Given the description of an element on the screen output the (x, y) to click on. 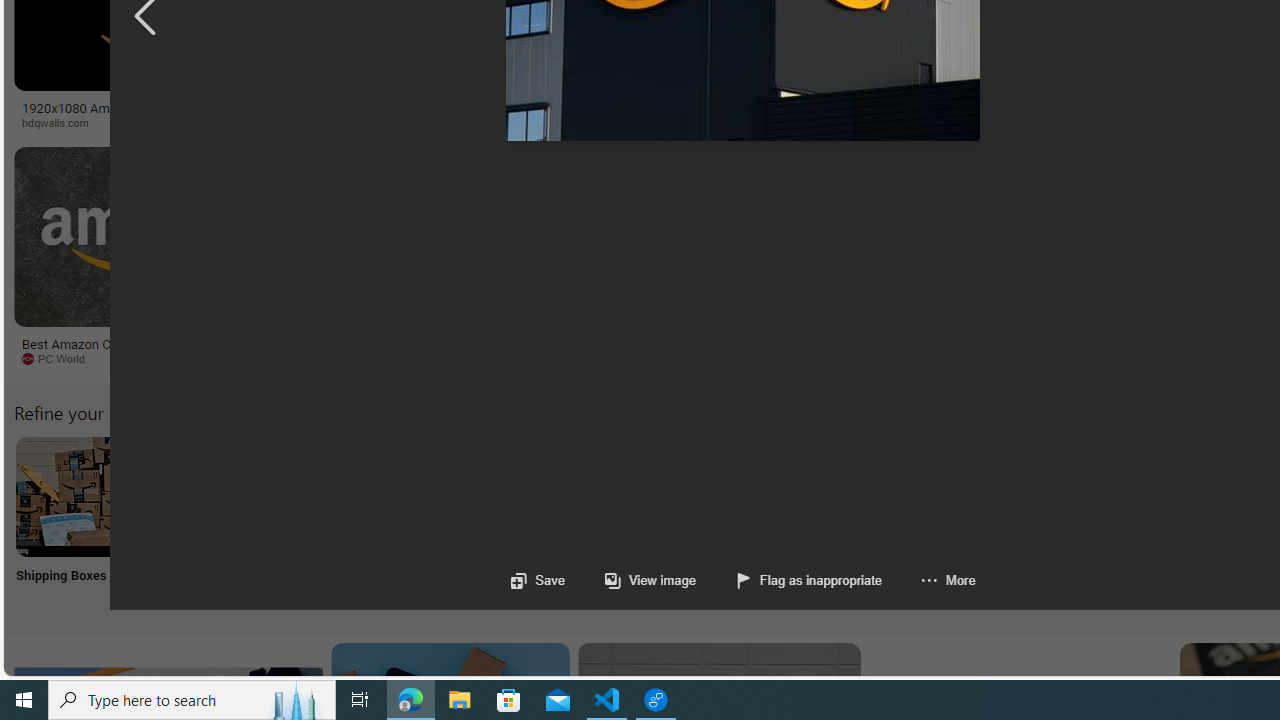
Jobs Near Me (604, 521)
Image result for amazon (936, 236)
manilashaker.com (1162, 358)
